Given the description of an element on the screen output the (x, y) to click on. 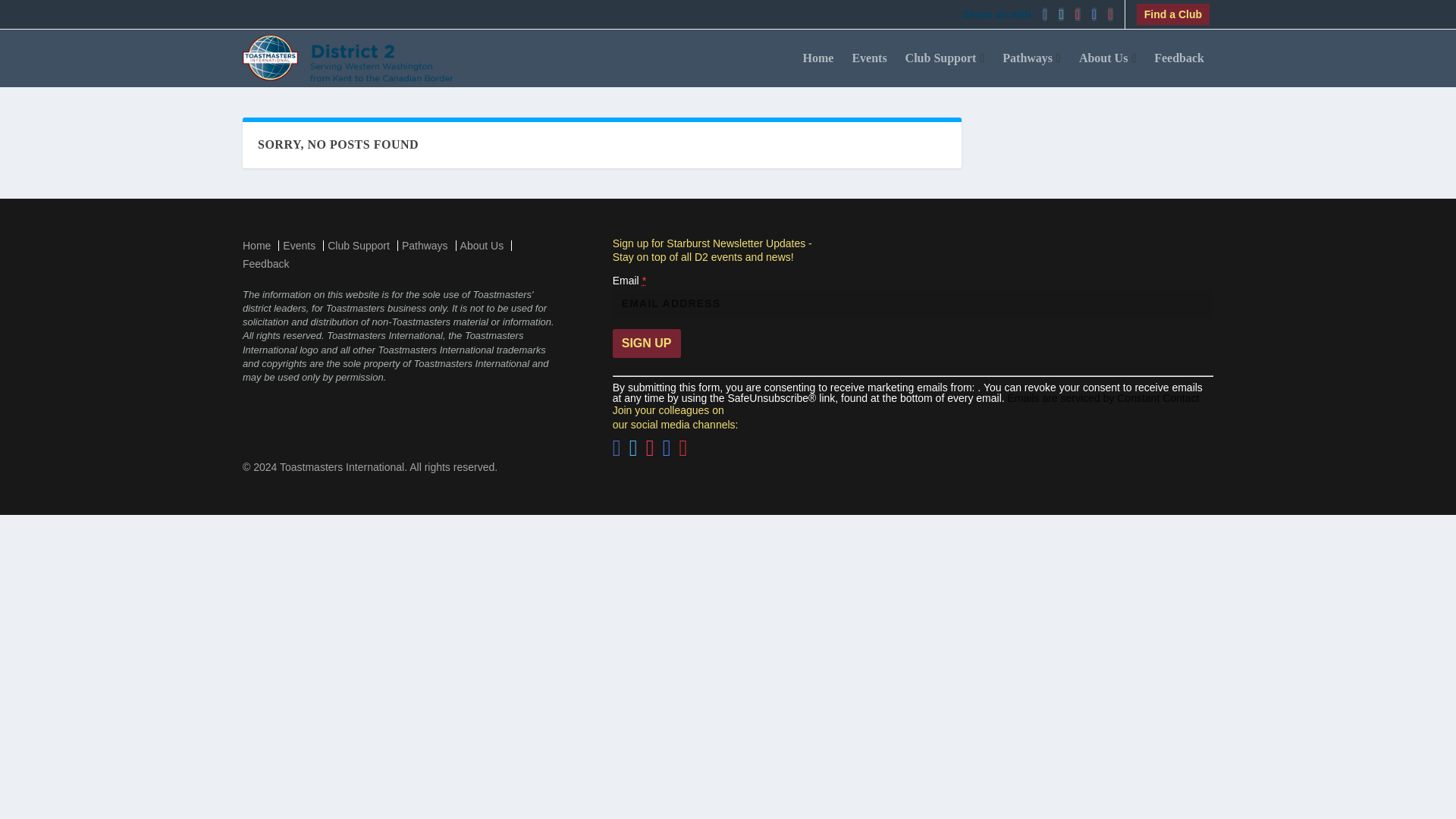
Club Support (945, 67)
About Us (481, 245)
Sign up (646, 343)
Pathways (1032, 67)
Home (817, 67)
Home (256, 245)
About Us (1106, 67)
Events (298, 245)
Feedback (1179, 67)
Pathways (424, 245)
